Given the description of an element on the screen output the (x, y) to click on. 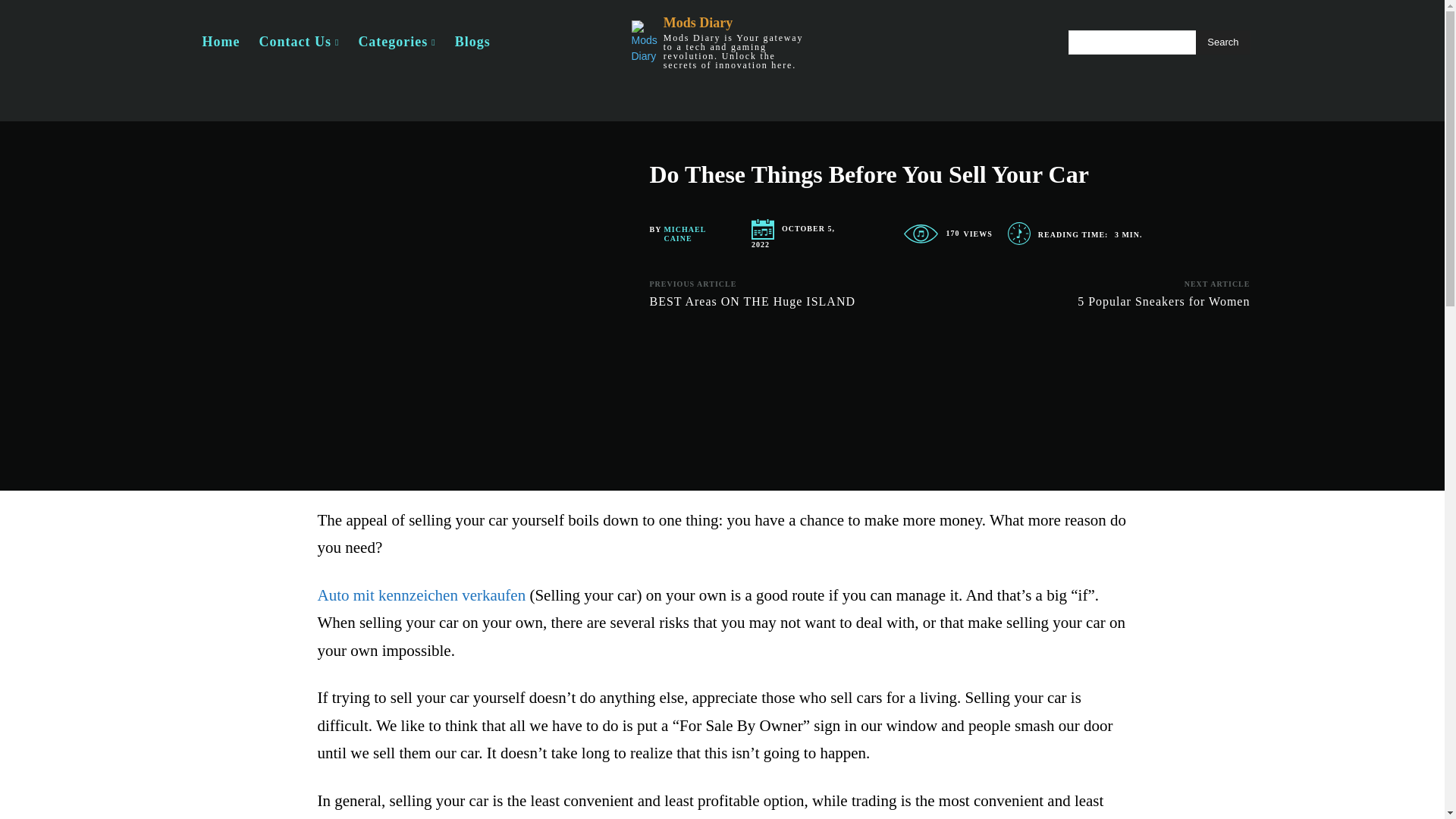
Mods Diary (643, 42)
Mods Diary (721, 42)
